Given the description of an element on the screen output the (x, y) to click on. 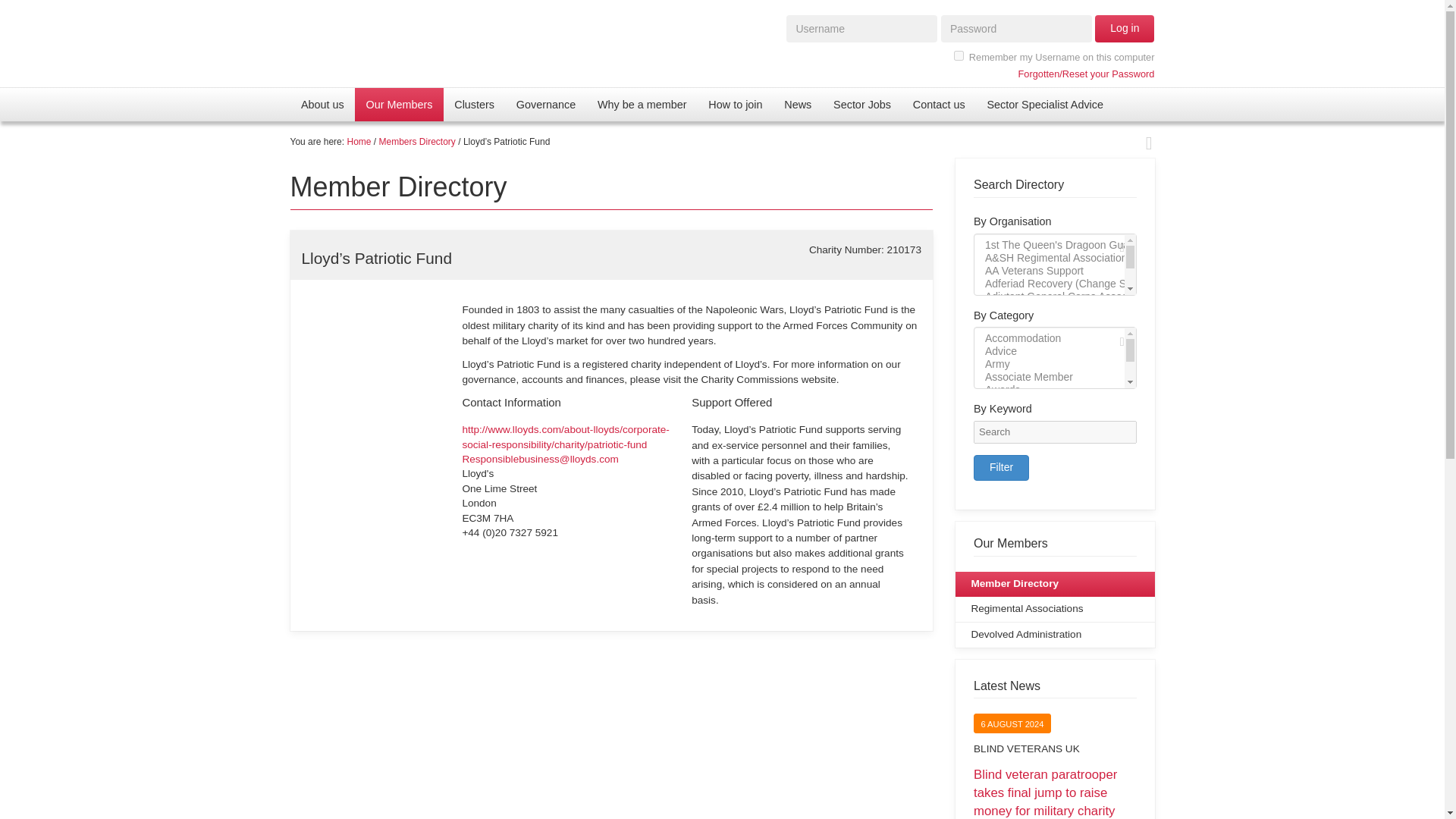
News (797, 104)
Why be a member (641, 104)
Clusters (474, 104)
Contact us (938, 104)
forever (958, 55)
Our Members (399, 104)
Sector Jobs (862, 104)
Governance (545, 104)
Sector Specialist Advice (1044, 104)
